Given the description of an element on the screen output the (x, y) to click on. 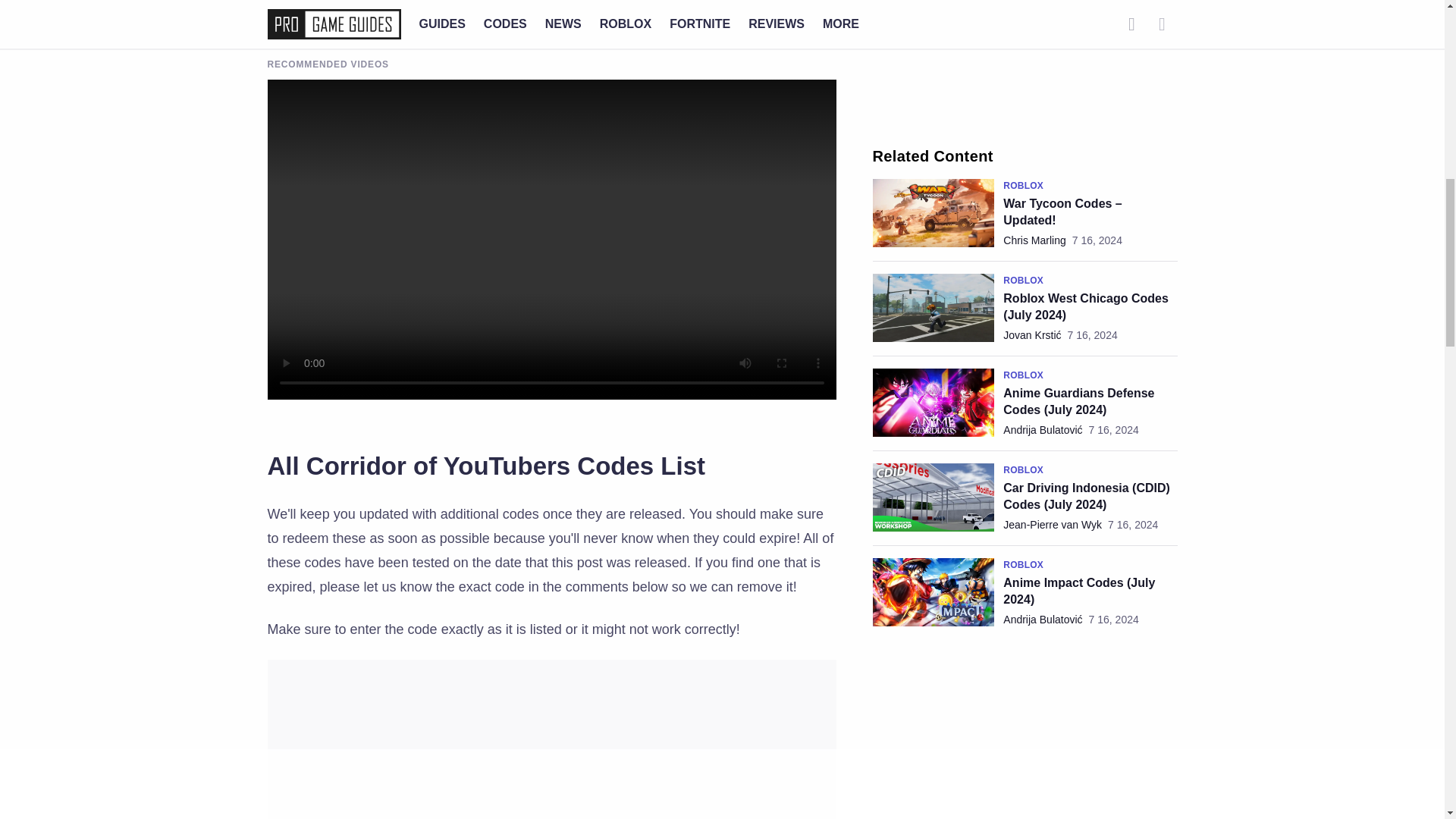
3rd party ad content (1024, 57)
